Given the description of an element on the screen output the (x, y) to click on. 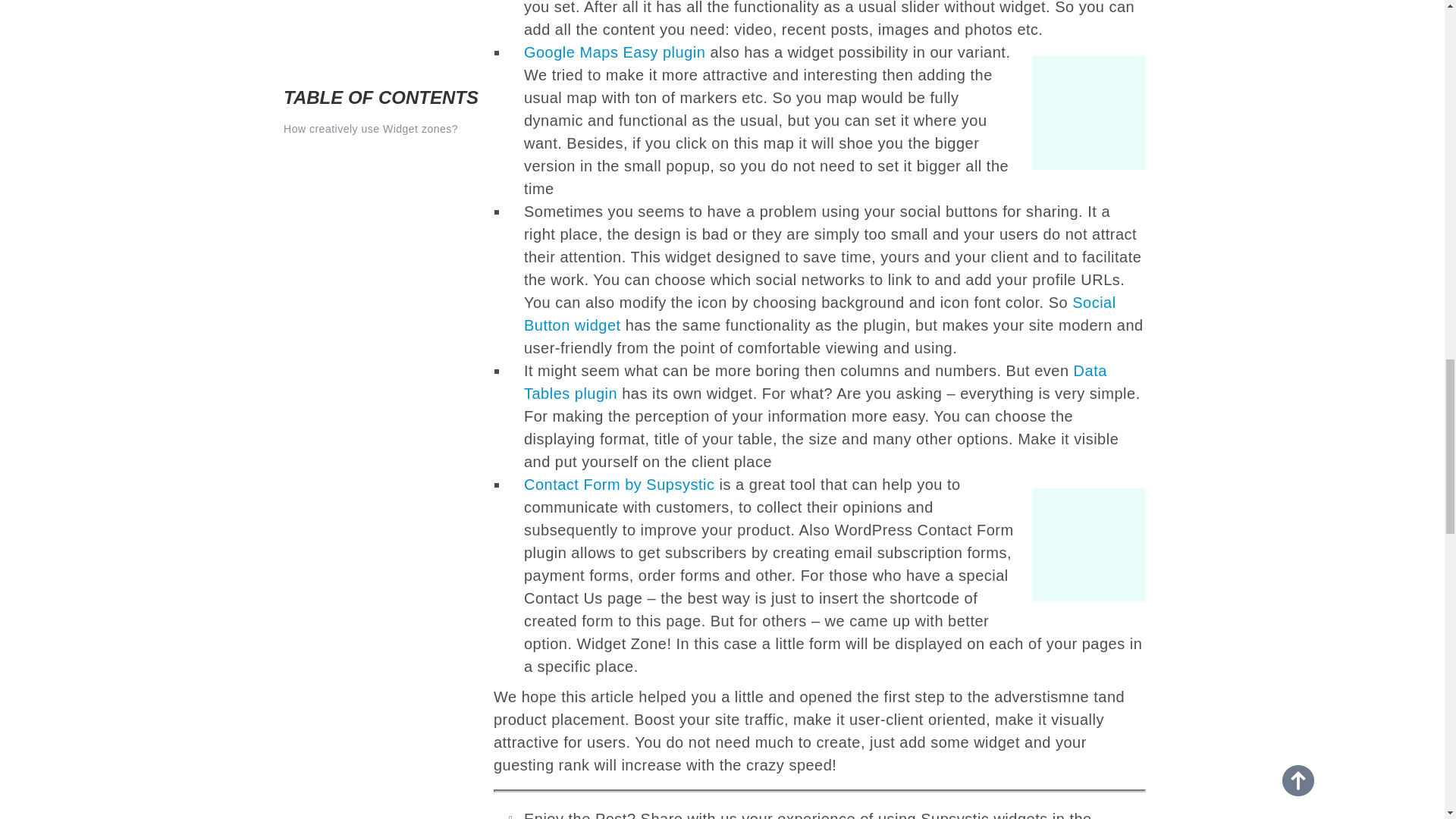
Google Maps Easy plugin (1080, 112)
Contact Form plugin for your website (1080, 544)
Contact Form by Supsystic (619, 484)
Google Maps Easy plugin (614, 52)
Data Tables plugin (815, 382)
Social Button widget (820, 313)
